Given the description of an element on the screen output the (x, y) to click on. 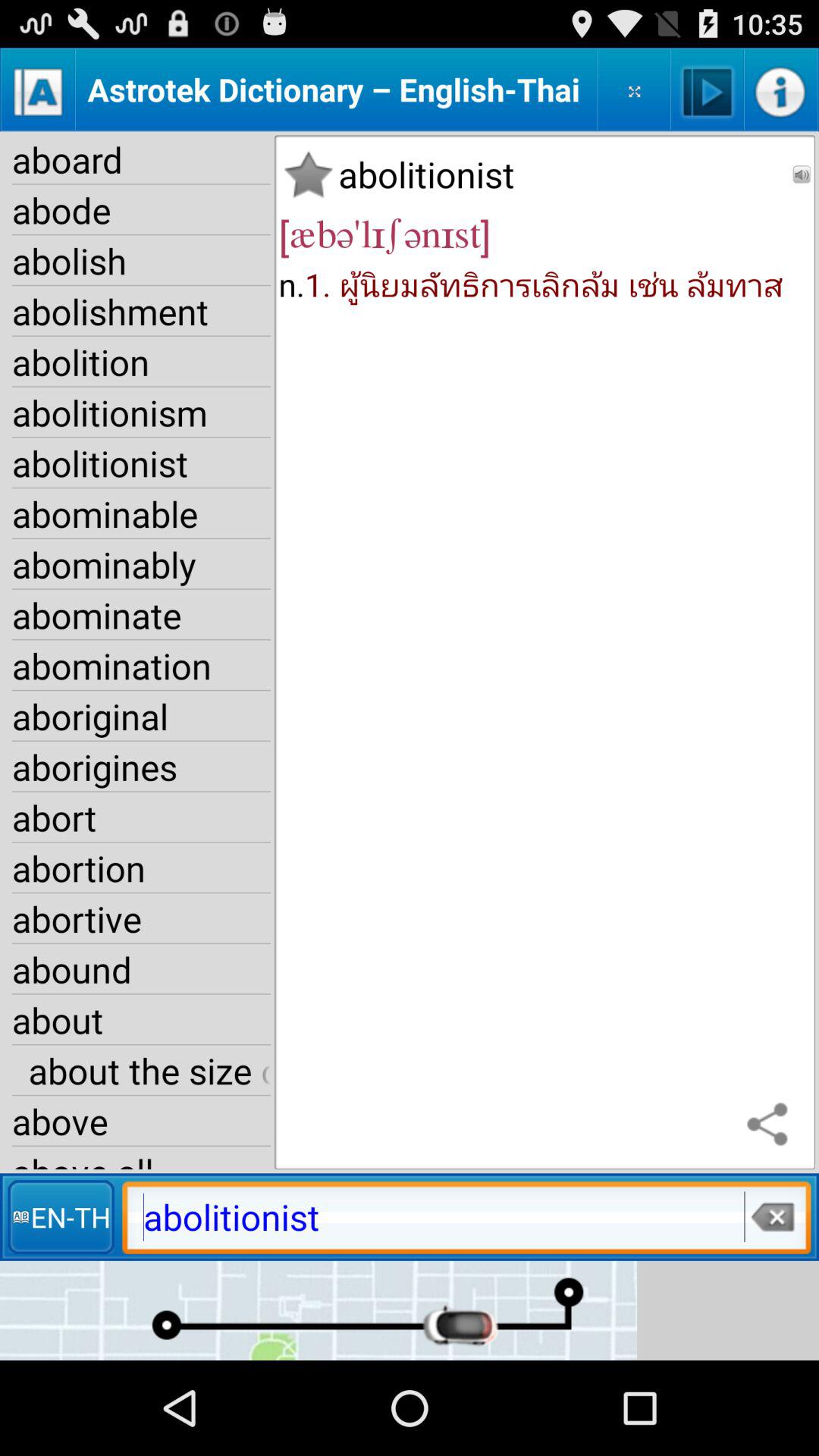
go to opinion section (633, 89)
